Given the description of an element on the screen output the (x, y) to click on. 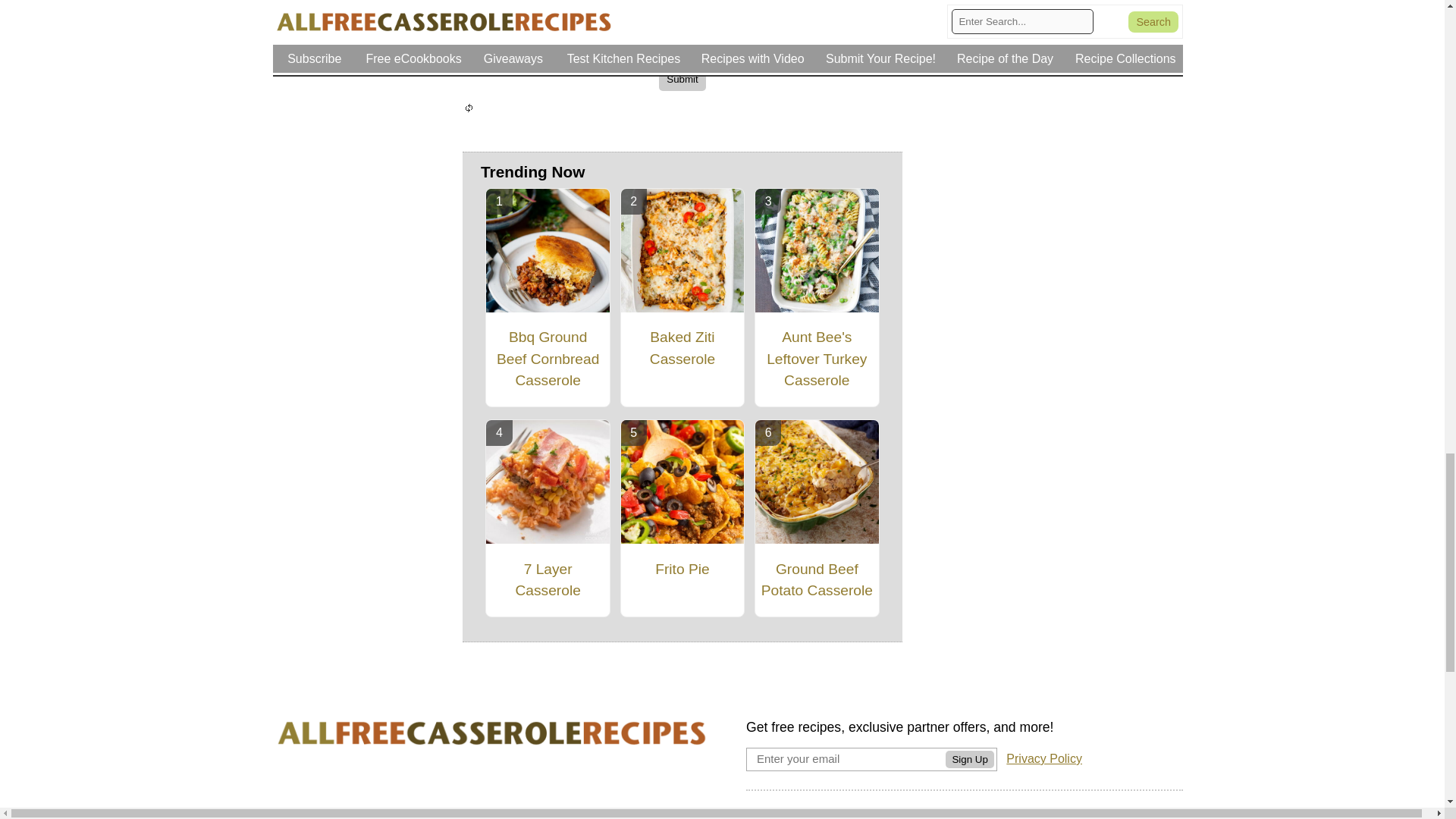
Submit (681, 78)
